Given the description of an element on the screen output the (x, y) to click on. 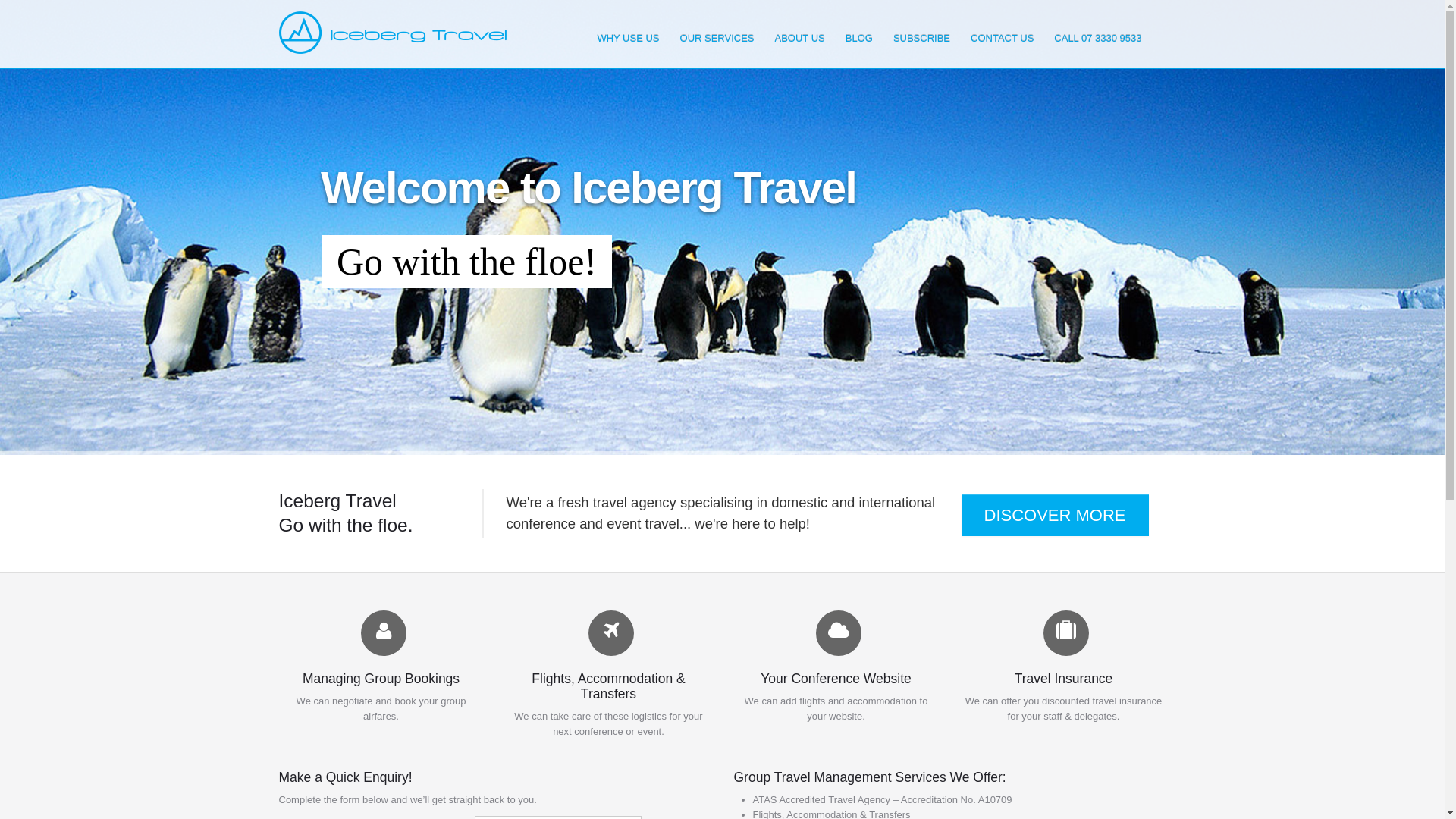
SUBSCRIBE Element type: text (921, 38)
DISCOVER MORE Element type: text (1054, 515)
WHY USE US Element type: text (627, 38)
CONTACT US Element type: text (1001, 38)
OUR SERVICES Element type: text (717, 38)
CALL 07 3330 9533 Element type: text (1097, 38)
ABOUT US Element type: text (799, 38)
BLOG Element type: text (858, 38)
